Given the description of an element on the screen output the (x, y) to click on. 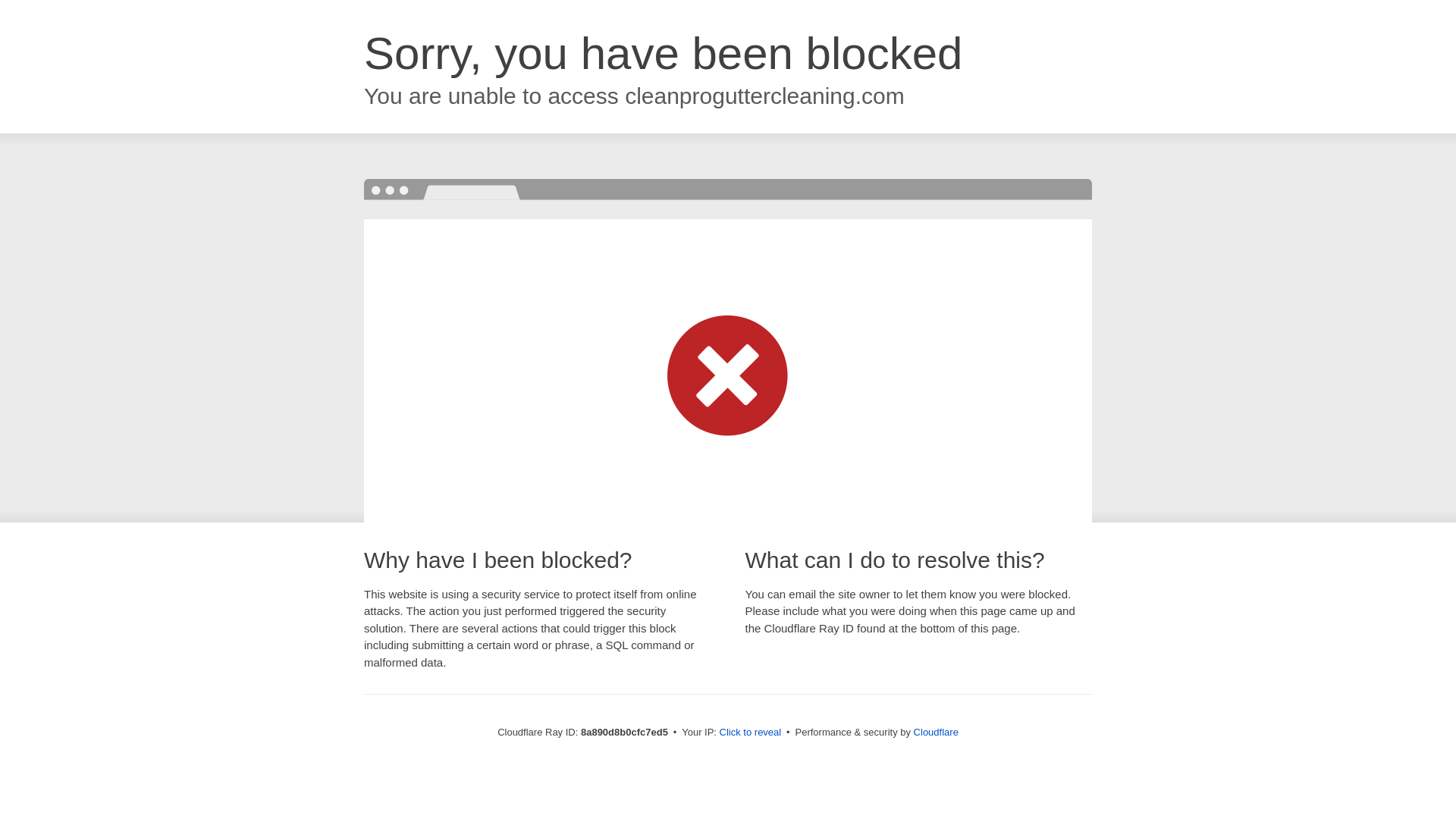
Click to reveal (750, 732)
Cloudflare (936, 731)
